Given the description of an element on the screen output the (x, y) to click on. 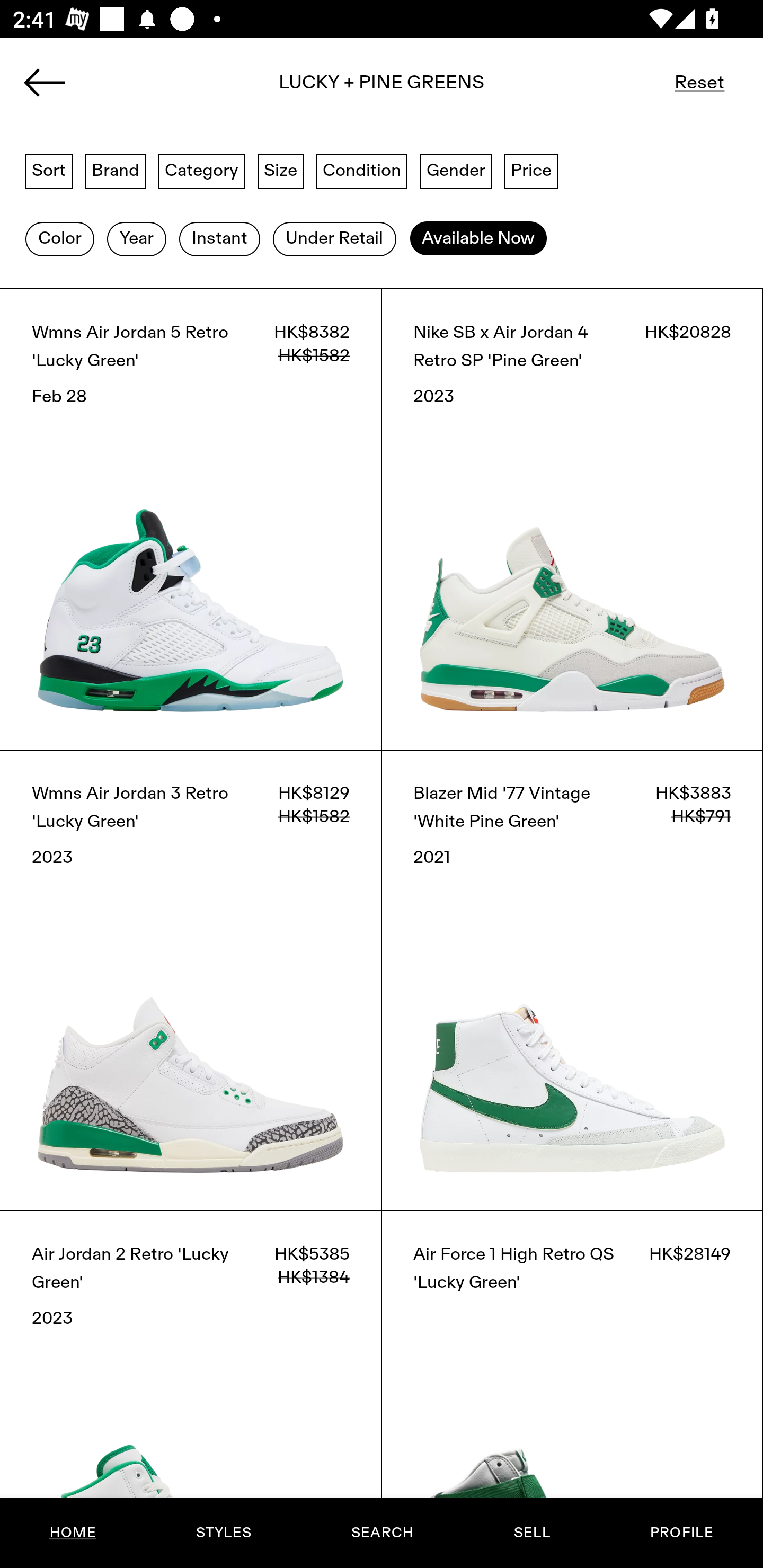
Reset (699, 82)
Search (381, 88)
Sort (48, 170)
Brand (115, 170)
Category (201, 170)
Size (280, 170)
Condition (361, 170)
Gender (455, 170)
Price (530, 170)
Color (59, 239)
Year (136, 239)
Instant (219, 239)
Under Retail (334, 239)
Available Now (477, 239)
Air Force 1 High Retro QS 'Lucky Green' HK$28149 (572, 1389)
HOME (72, 1532)
STYLES (222, 1532)
SEARCH (381, 1532)
SELL (531, 1532)
PROFILE (681, 1532)
